Given the description of an element on the screen output the (x, y) to click on. 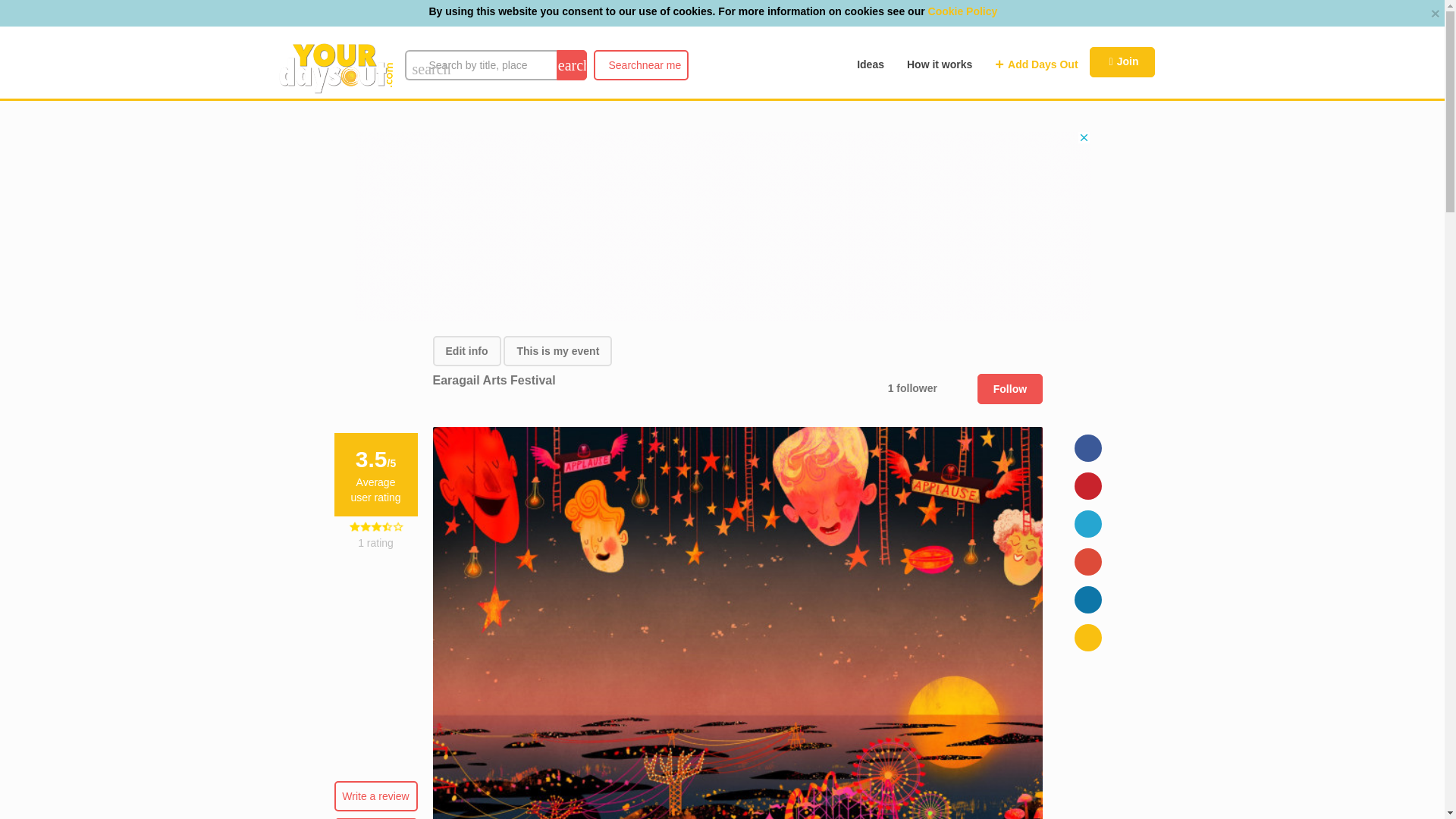
Follow (1009, 388)
Cookie Policy (962, 10)
Join (1121, 61)
How it works (939, 64)
search (571, 64)
Ideas (870, 64)
Edit info (466, 350)
3rd party ad content (640, 64)
Write a review (557, 350)
